Given the description of an element on the screen output the (x, y) to click on. 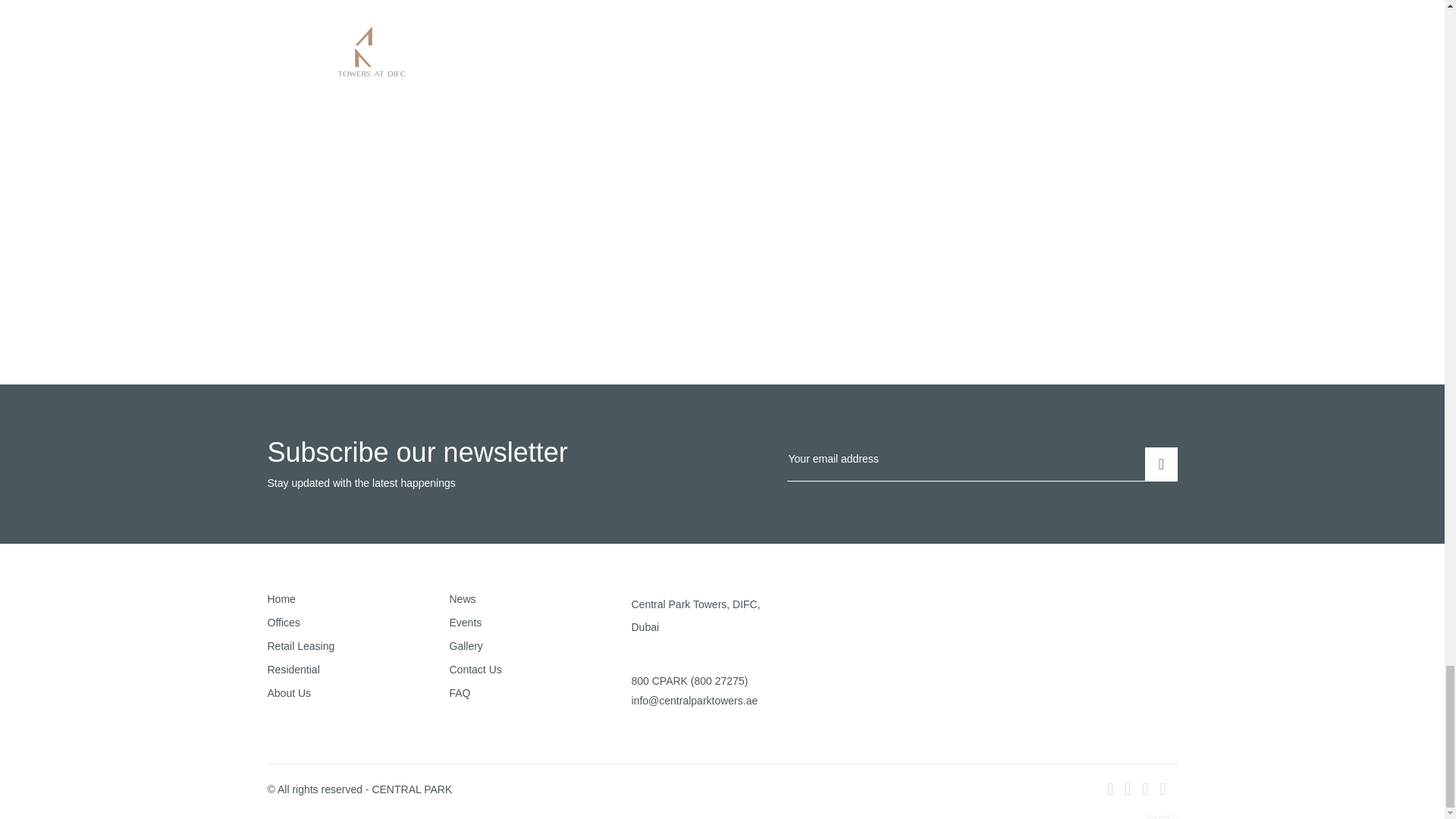
FAQ (539, 693)
Gallery (539, 645)
Retail Leasing (357, 645)
Residential (357, 669)
About Us (357, 693)
Events (539, 622)
Offices (357, 622)
Home (357, 598)
Contact Us (539, 669)
News (539, 598)
